Given the description of an element on the screen output the (x, y) to click on. 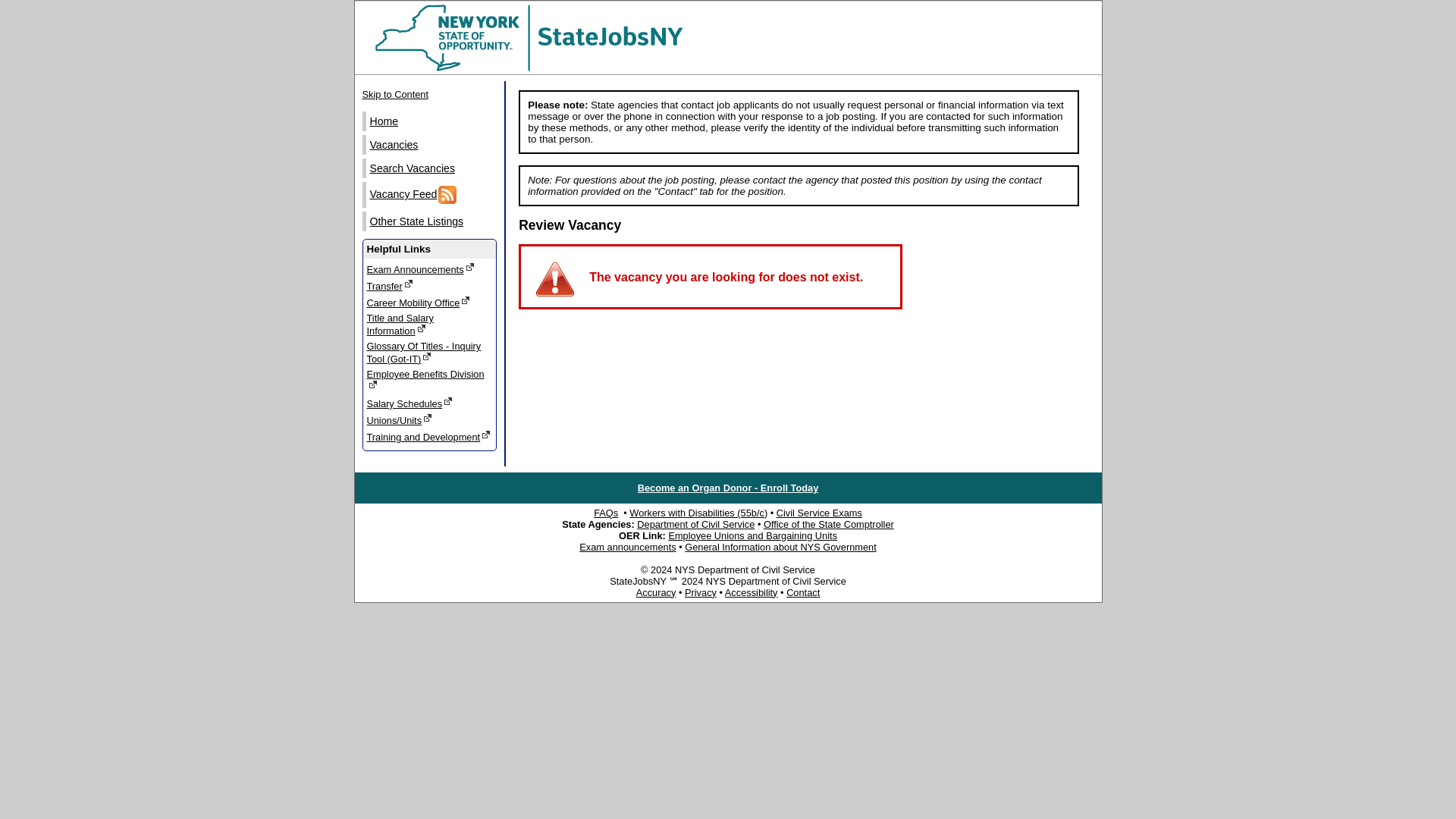
Contact (802, 592)
General Information about NYS Government (780, 546)
Exam announcements (627, 546)
Vacancy Feed (430, 194)
Office of the State Comptroller (827, 523)
Transfer (429, 285)
Become an Organ Donor - Enroll Today (727, 487)
Training and Development (429, 436)
Salary Schedules (429, 402)
FAQs (605, 512)
Privacy (700, 592)
Search Vacancies (430, 168)
Accuracy (656, 592)
Department of Civil Service (429, 324)
